Given the description of an element on the screen output the (x, y) to click on. 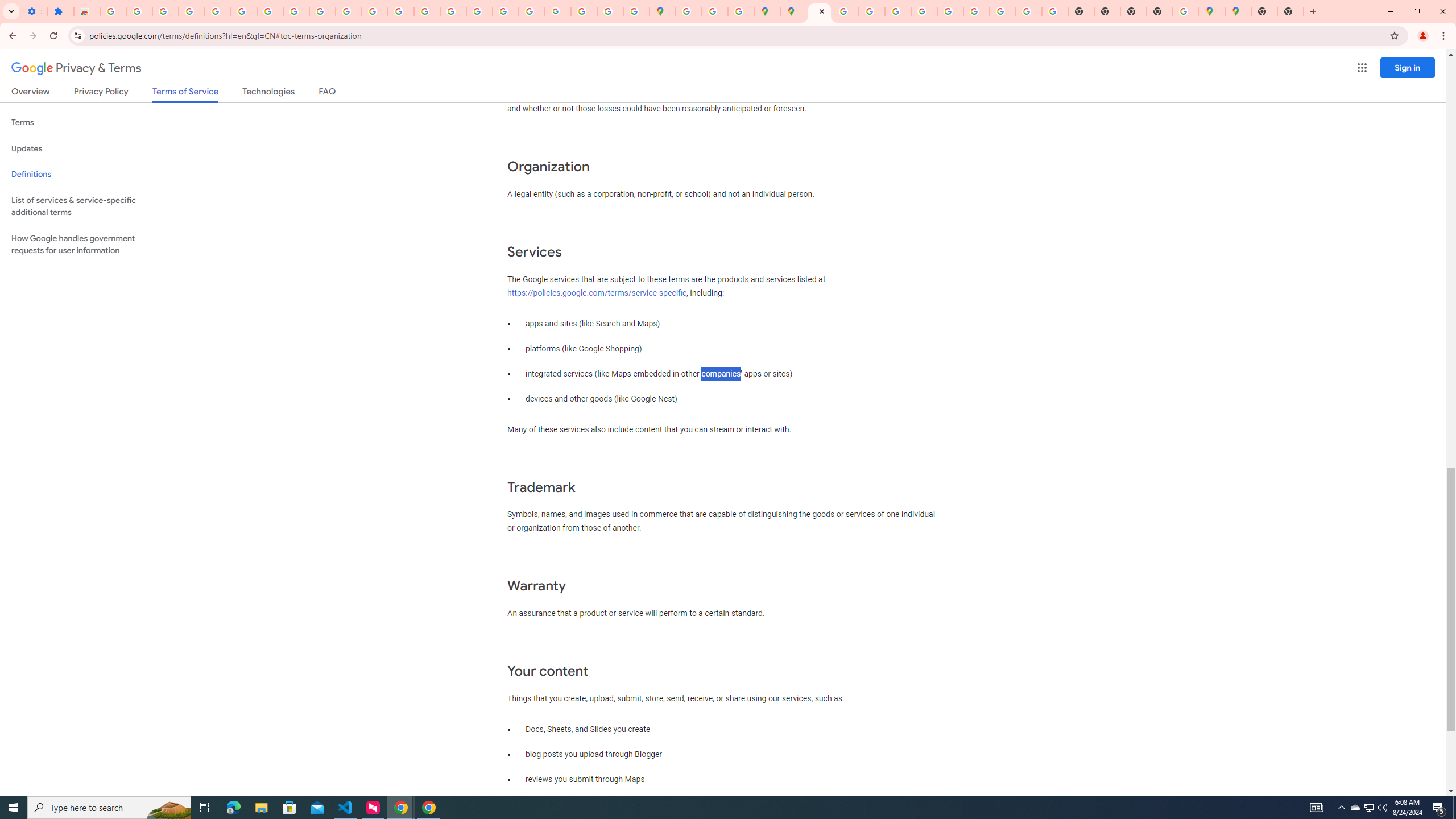
Technologies (268, 93)
Privacy Help Center - Policies Help (453, 11)
List of services & service-specific additional terms (86, 206)
Terms of Service (184, 94)
Privacy Policy (100, 93)
Browse Chrome as a guest - Computer - Google Chrome Help (976, 11)
Sign in - Google Accounts (689, 11)
Use Google Maps in Space - Google Maps Help (1185, 11)
Terms (86, 122)
